Given the description of an element on the screen output the (x, y) to click on. 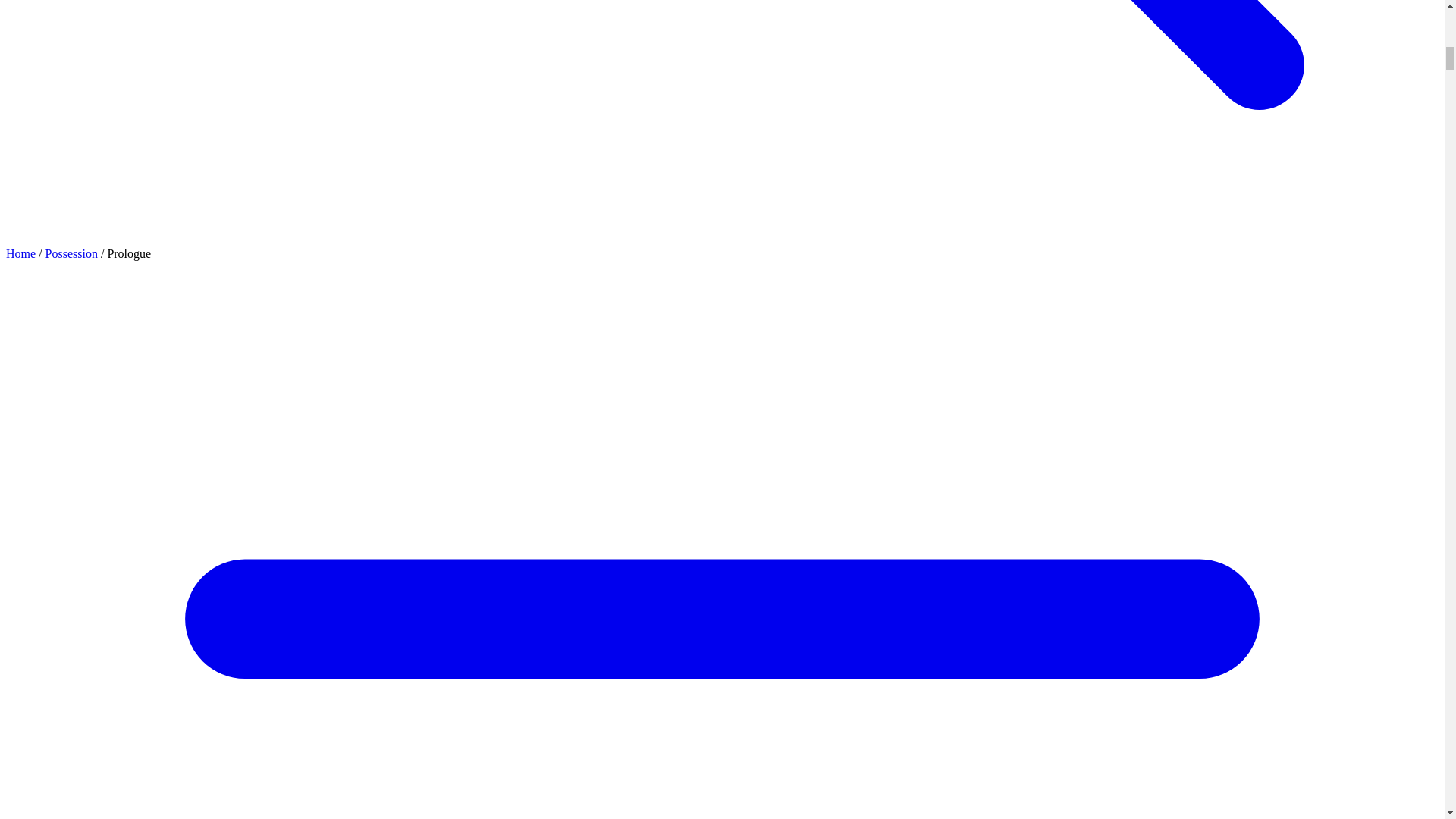
Home (19, 253)
Possession (71, 253)
